Given the description of an element on the screen output the (x, y) to click on. 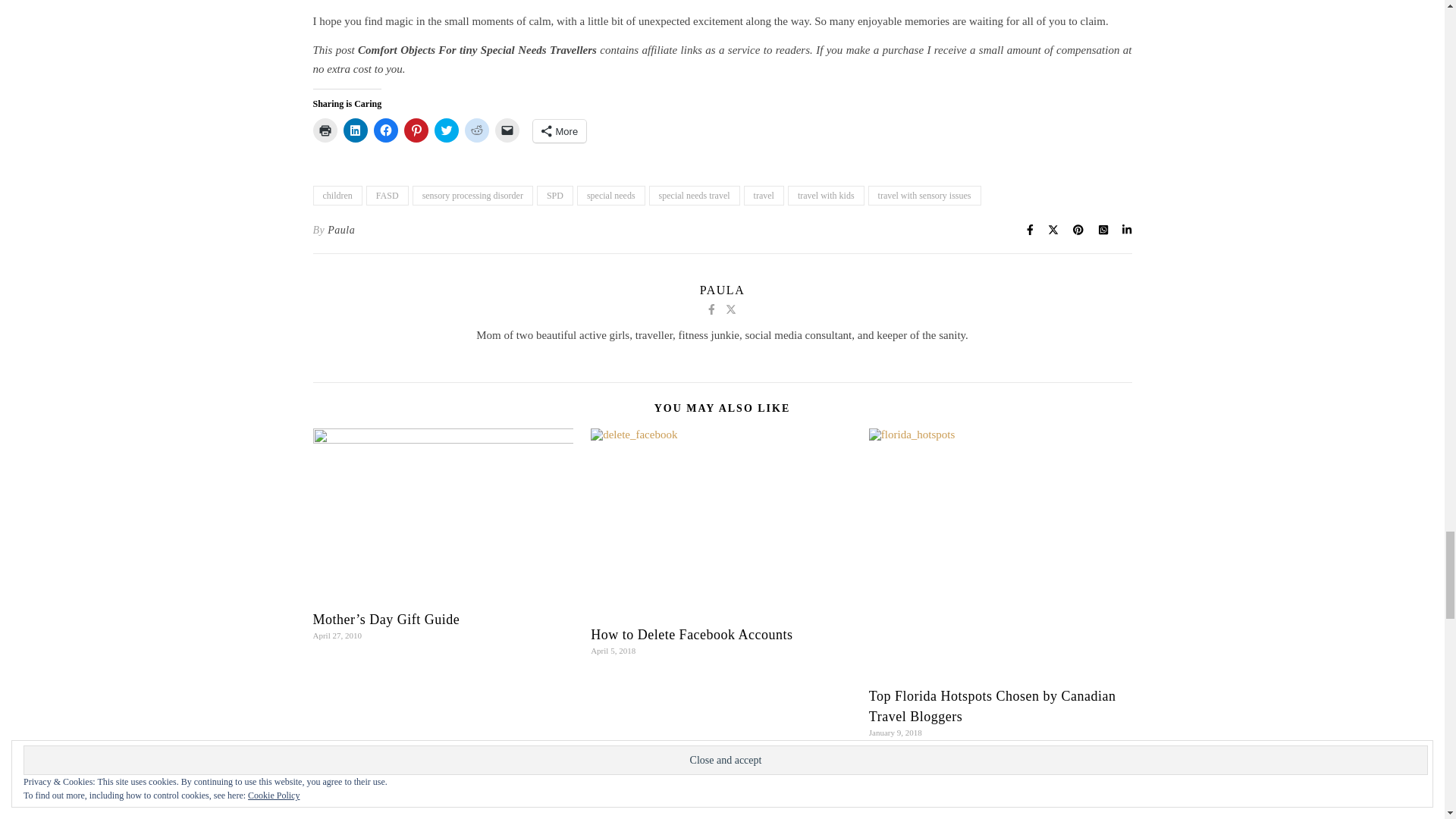
Click to share on LinkedIn (354, 129)
Click to print (324, 129)
Click to share on Pinterest (415, 129)
Click to share on Facebook (384, 129)
Click to share on Twitter (445, 129)
